Given the description of an element on the screen output the (x, y) to click on. 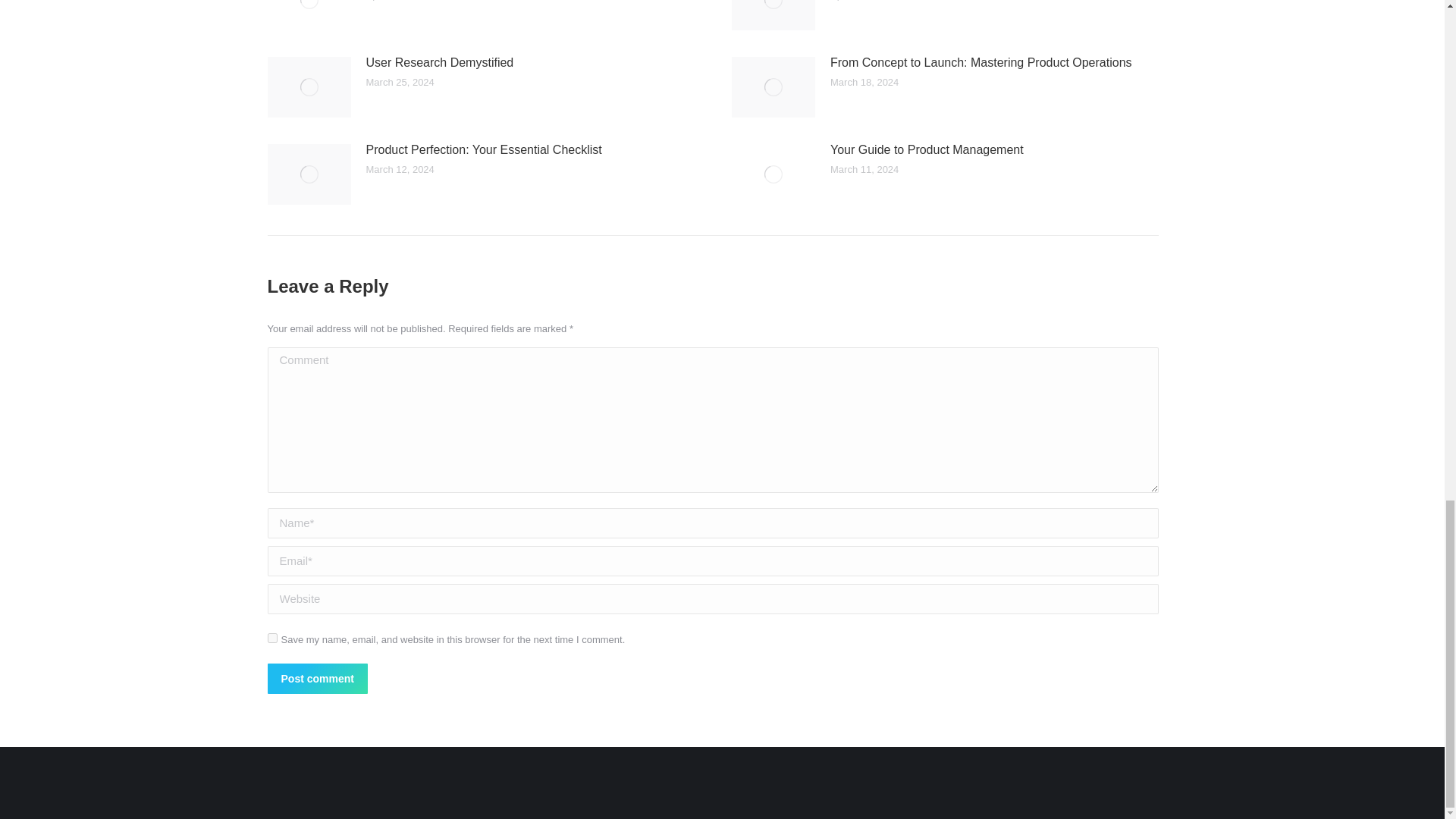
User Research Demystified (439, 62)
Product Perfection: Your Essential Checklist (483, 149)
yes (271, 637)
From Concept to Launch: Mastering Product Operations (980, 62)
Post comment (316, 678)
Your Guide to Product Management (926, 149)
